Given the description of an element on the screen output the (x, y) to click on. 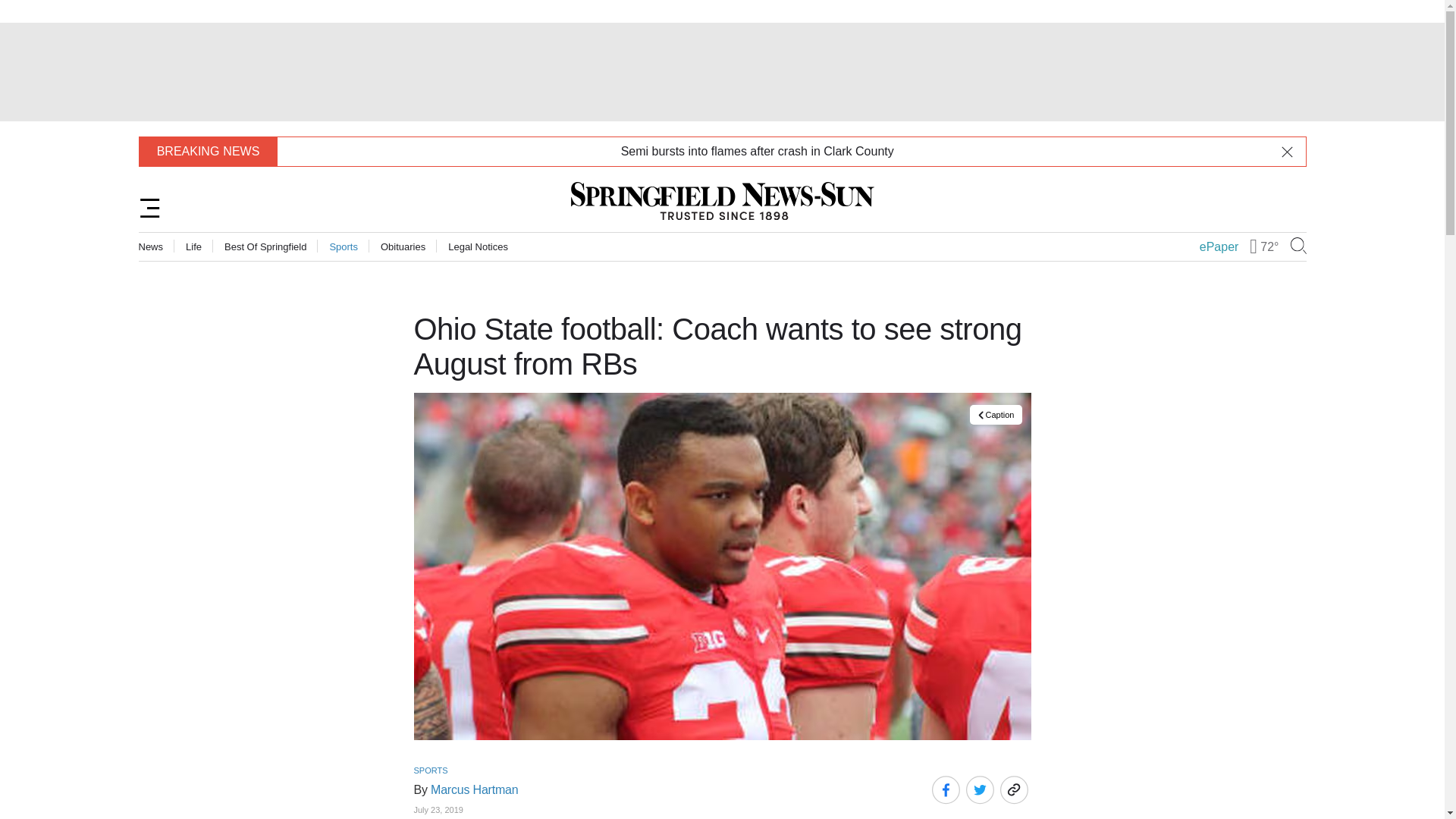
ePaper (1219, 246)
Life (194, 246)
Best Of Springfield (264, 246)
Legal Notices (478, 246)
Sports (343, 246)
News (150, 246)
Obituaries (402, 246)
